Given the description of an element on the screen output the (x, y) to click on. 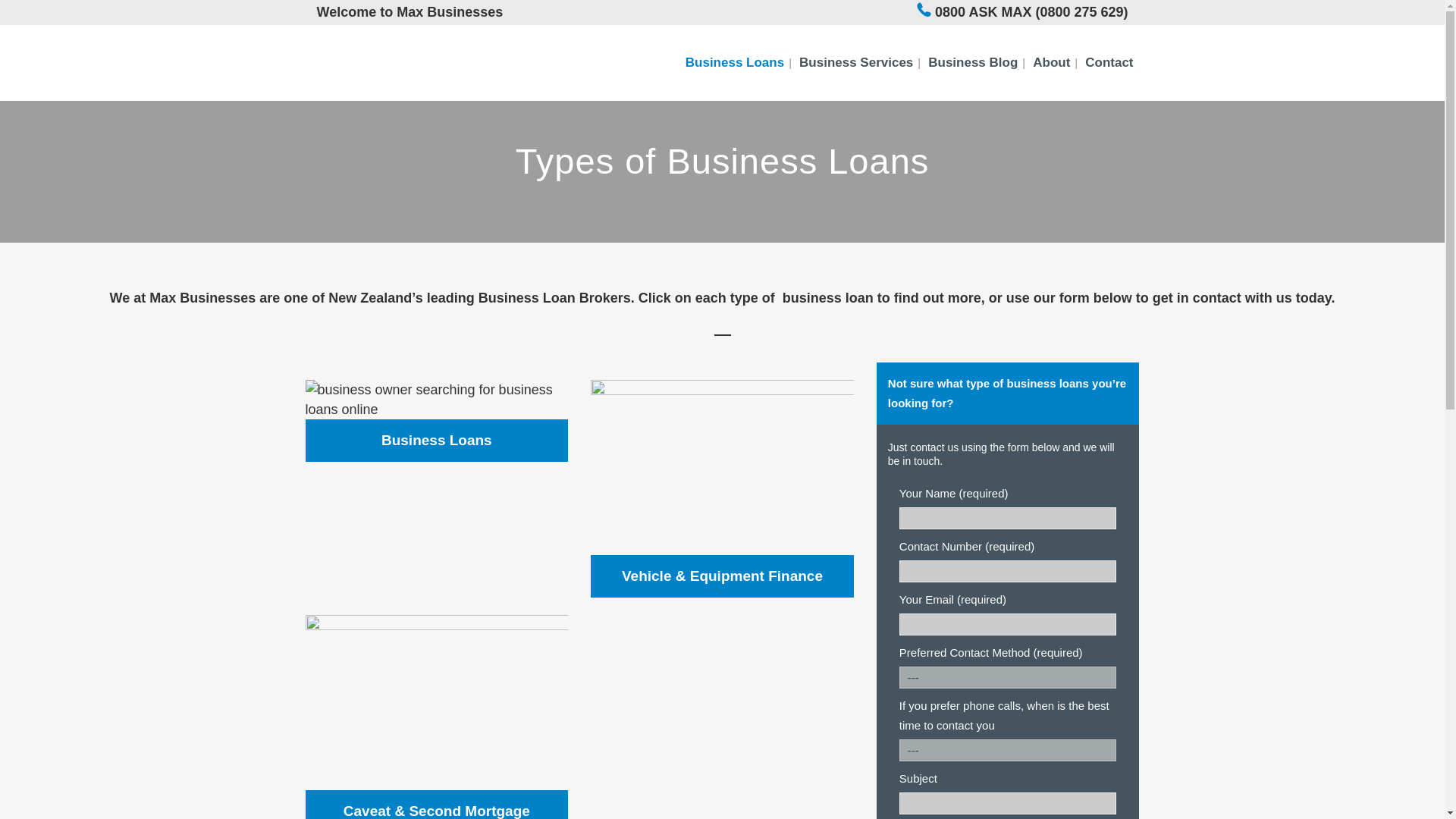
Business Loans (734, 62)
Business Services (855, 62)
Business Blog (972, 62)
